Given the description of an element on the screen output the (x, y) to click on. 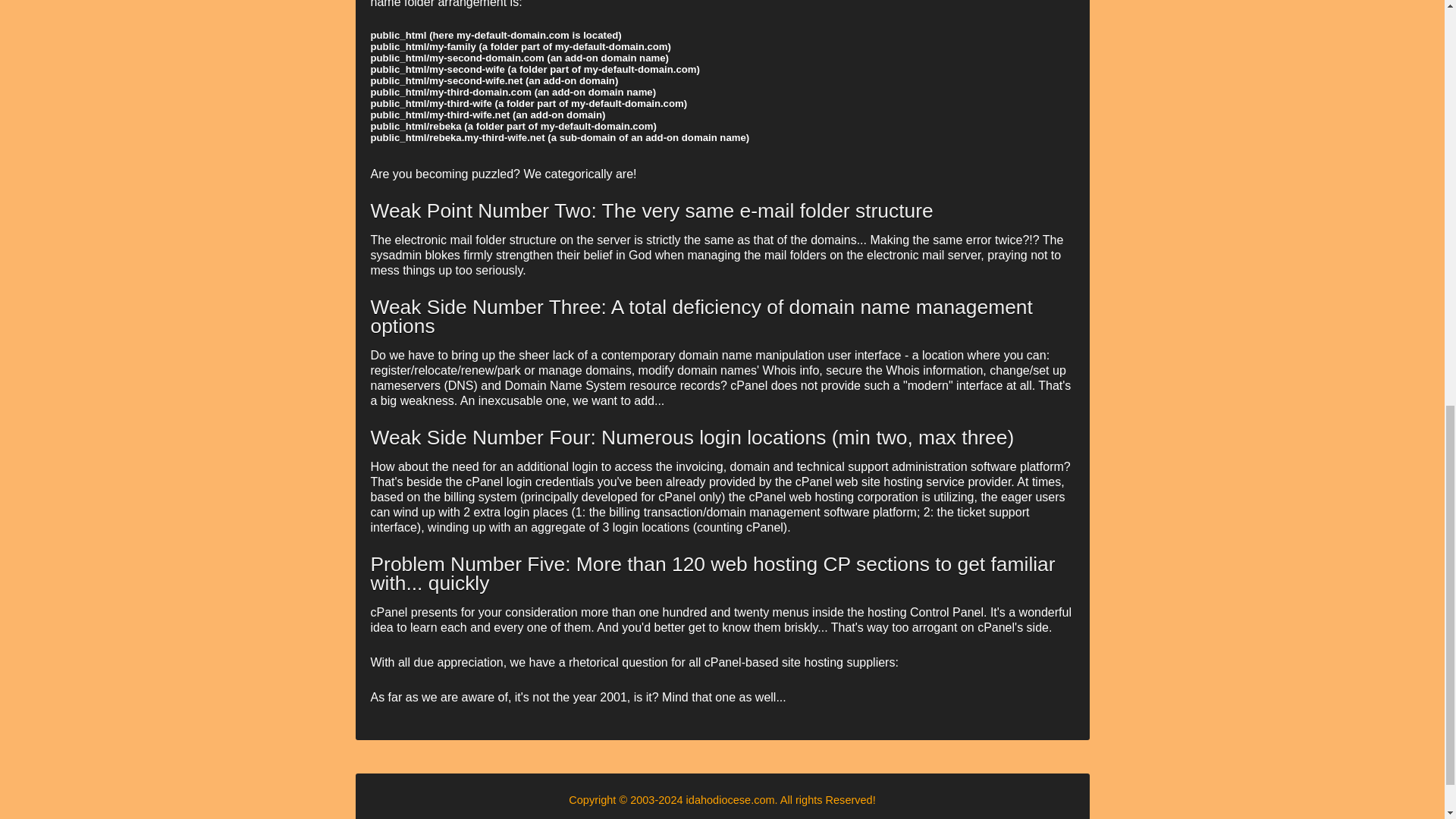
idahodiocese.com (729, 799)
